Given the description of an element on the screen output the (x, y) to click on. 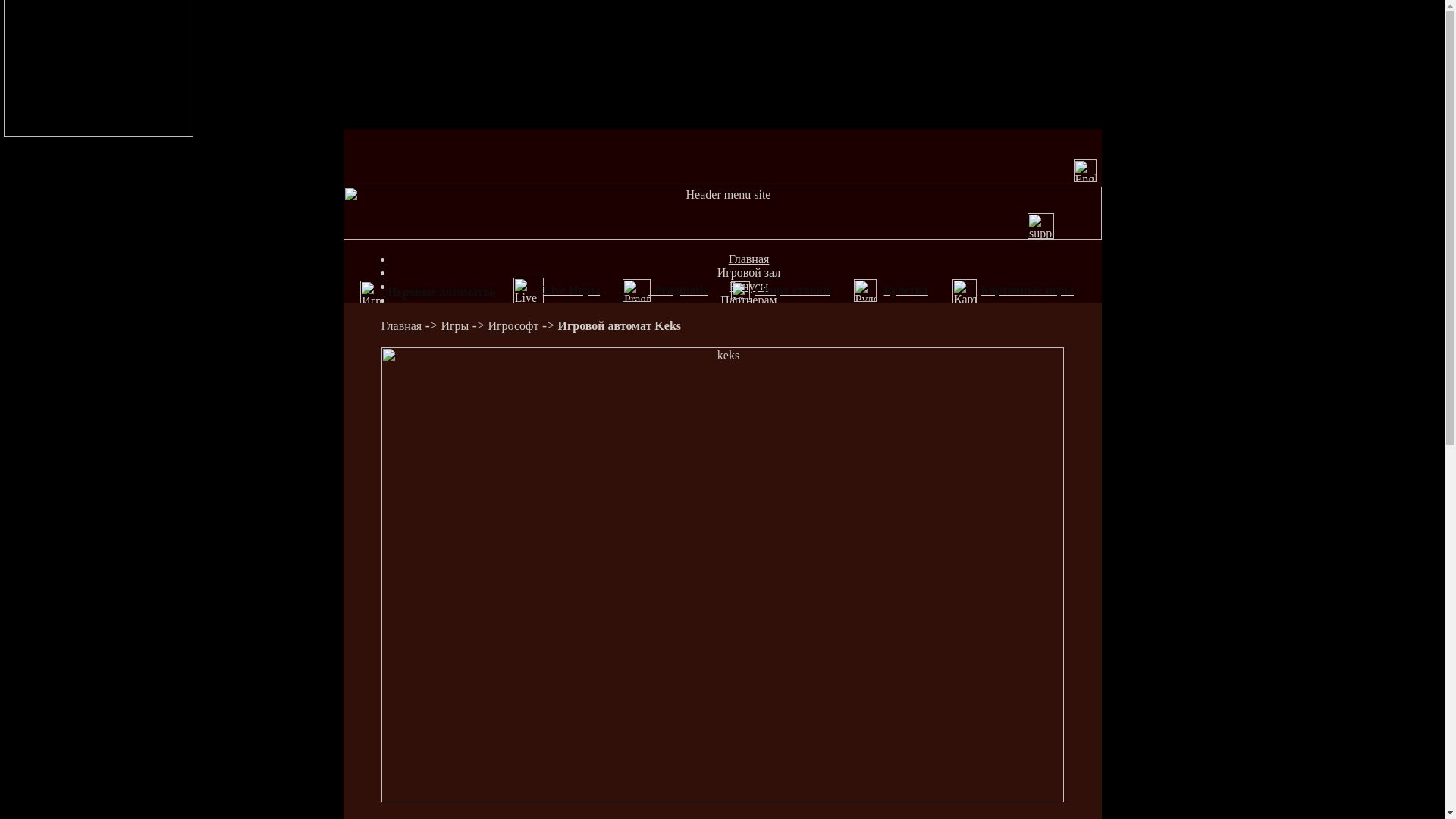
Virtual sport pragmatic Element type: hover (740, 290)
Main manu header Element type: hover (721, 212)
slot keks Element type: hover (721, 574)
  Pragmatic Element type: text (678, 289)
support team Element type: hover (1040, 225)
English flag Element type: hover (1084, 170)
